Given the description of an element on the screen output the (x, y) to click on. 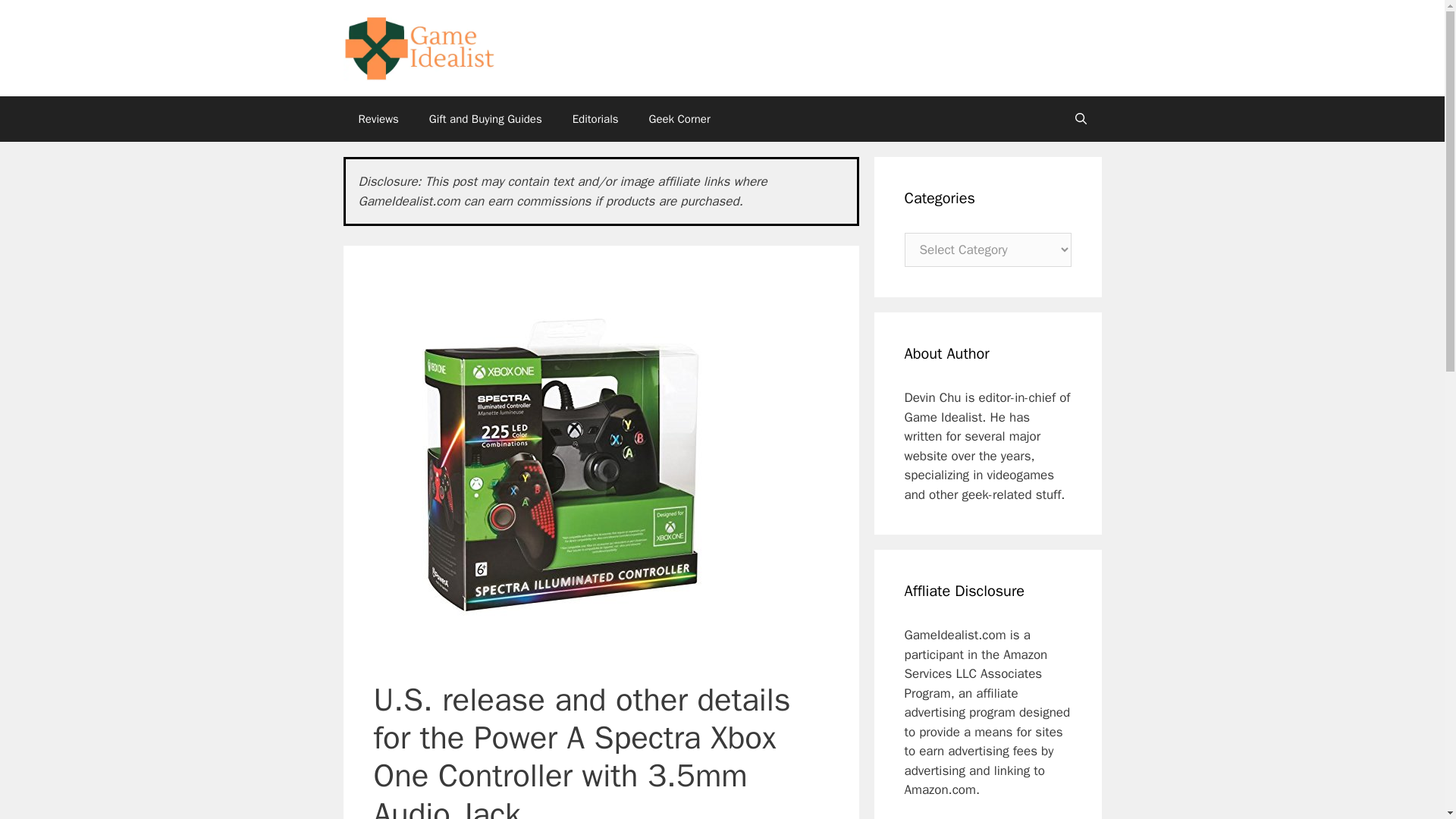
Reviews (377, 118)
Gift and Buying Guides (485, 118)
Geek Corner (679, 118)
Editorials (595, 118)
